Given the description of an element on the screen output the (x, y) to click on. 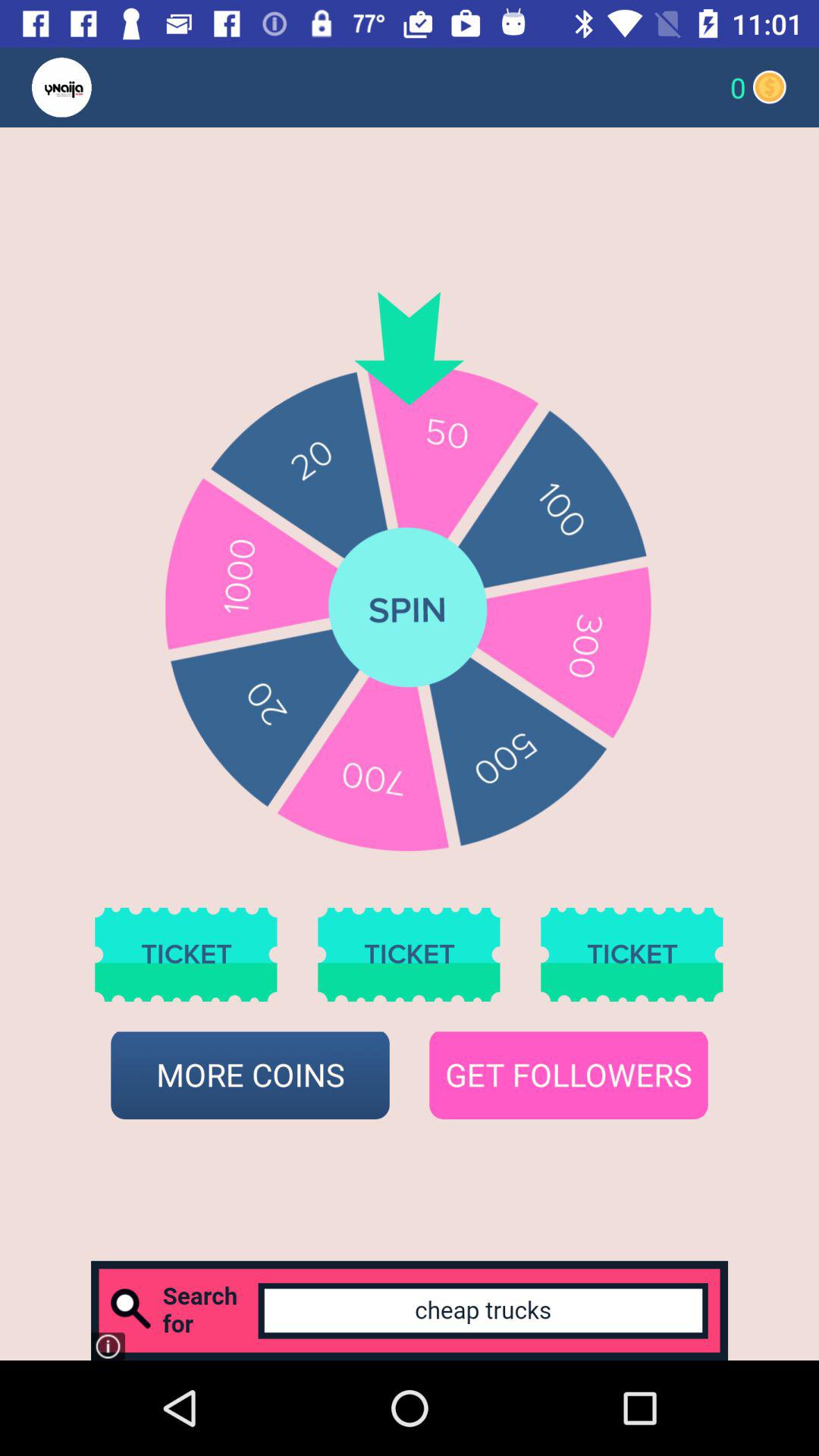
press the icon below more coins icon (409, 1310)
